Given the description of an element on the screen output the (x, y) to click on. 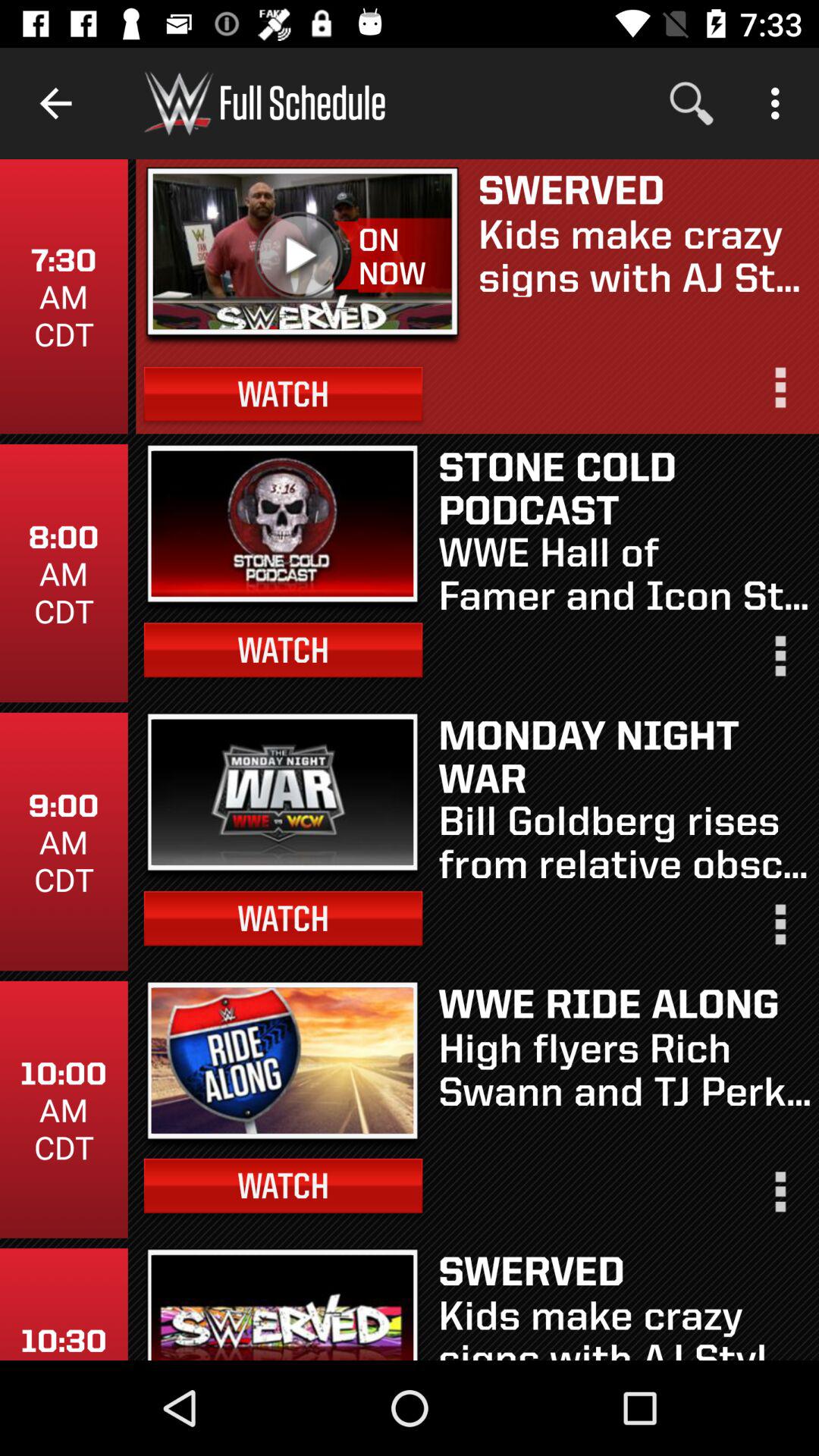
launch the item above watch icon (404, 256)
